Given the description of an element on the screen output the (x, y) to click on. 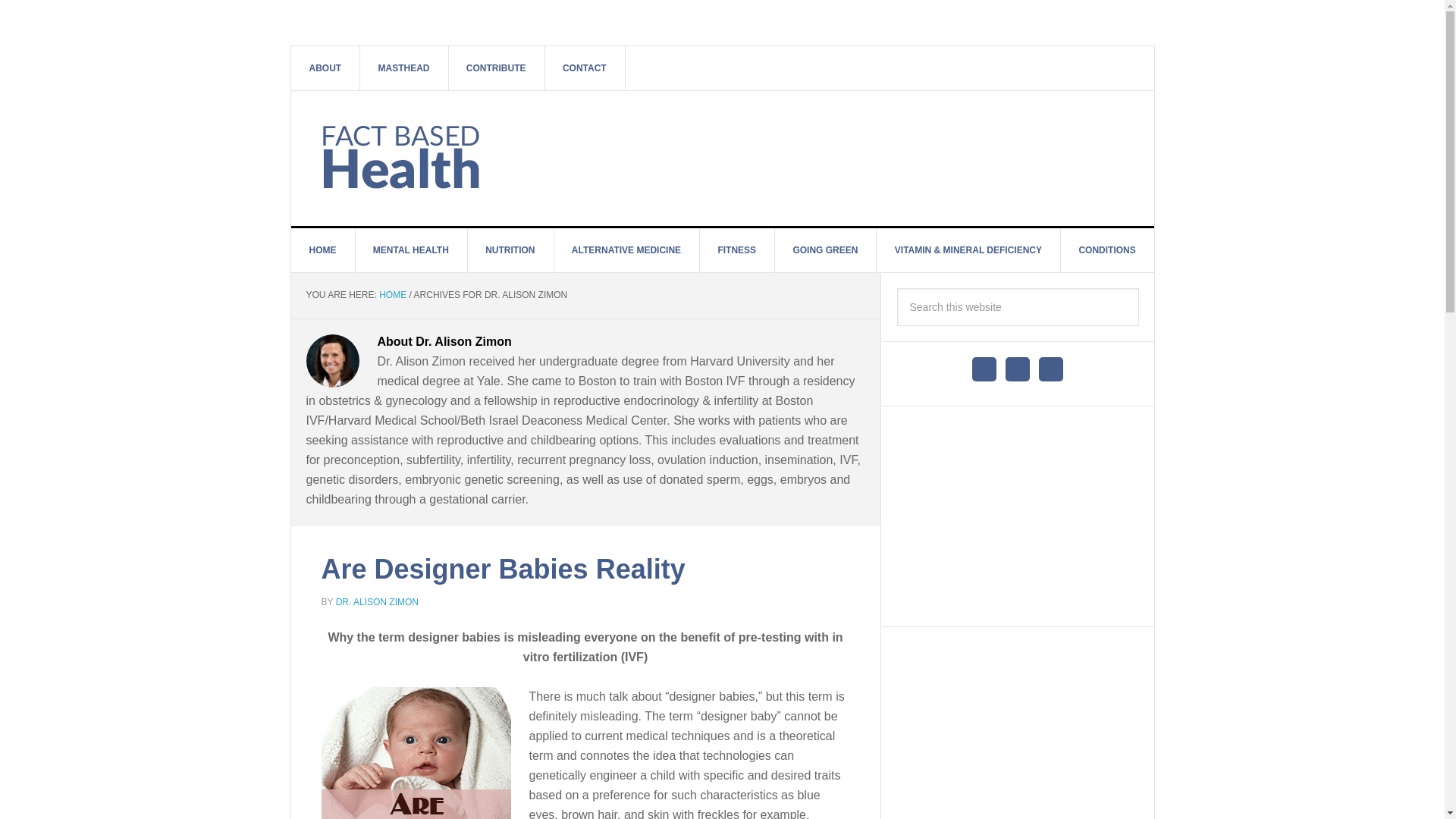
NUTRITION (510, 249)
HOME (323, 249)
FACT BASED HEALTH (419, 155)
FITNESS (736, 249)
CONTACT (585, 67)
GOING GREEN (825, 249)
HOME (392, 294)
MASTHEAD (403, 67)
